Given the description of an element on the screen output the (x, y) to click on. 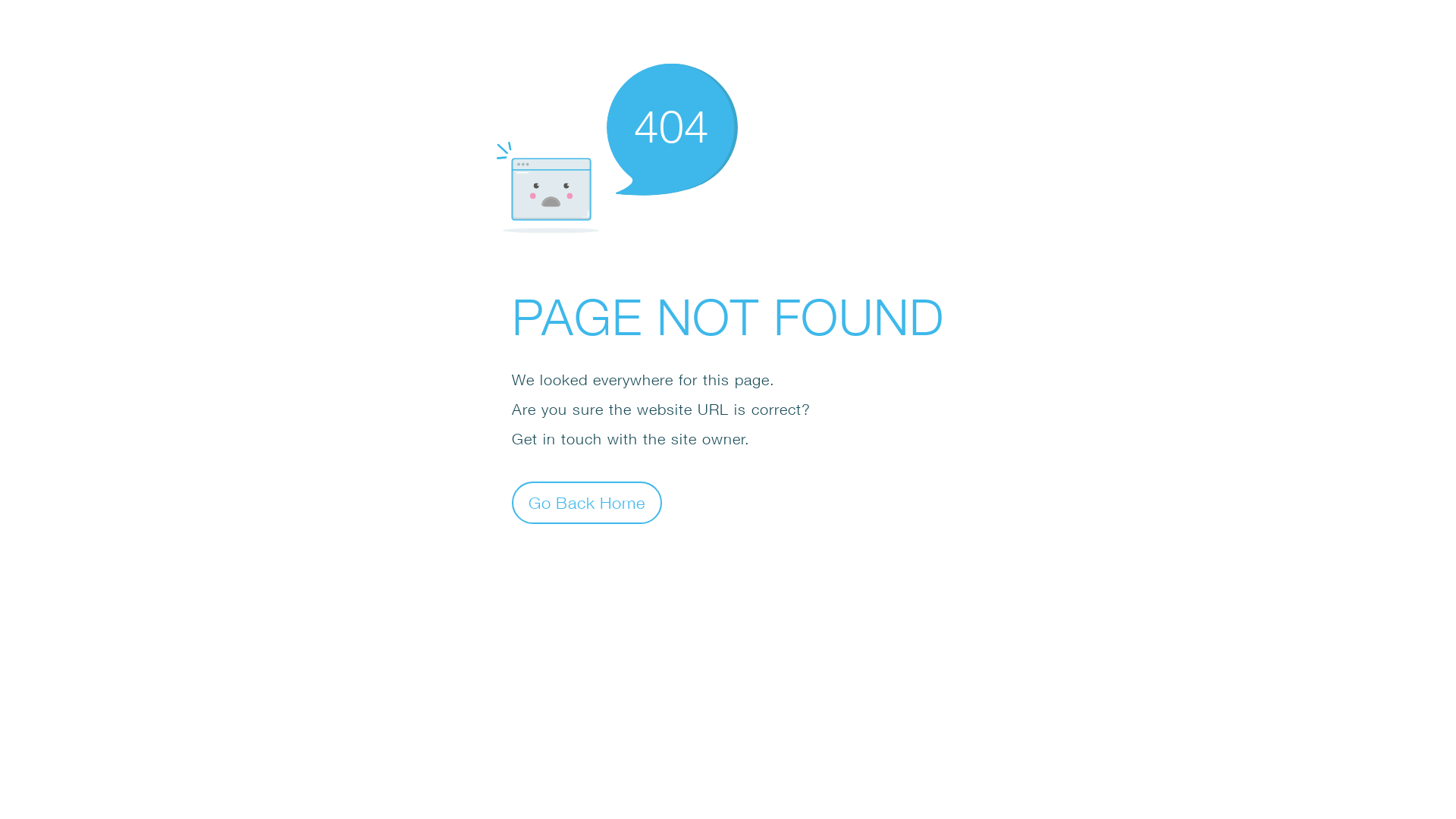
Go Back Home Element type: text (586, 502)
